Given the description of an element on the screen output the (x, y) to click on. 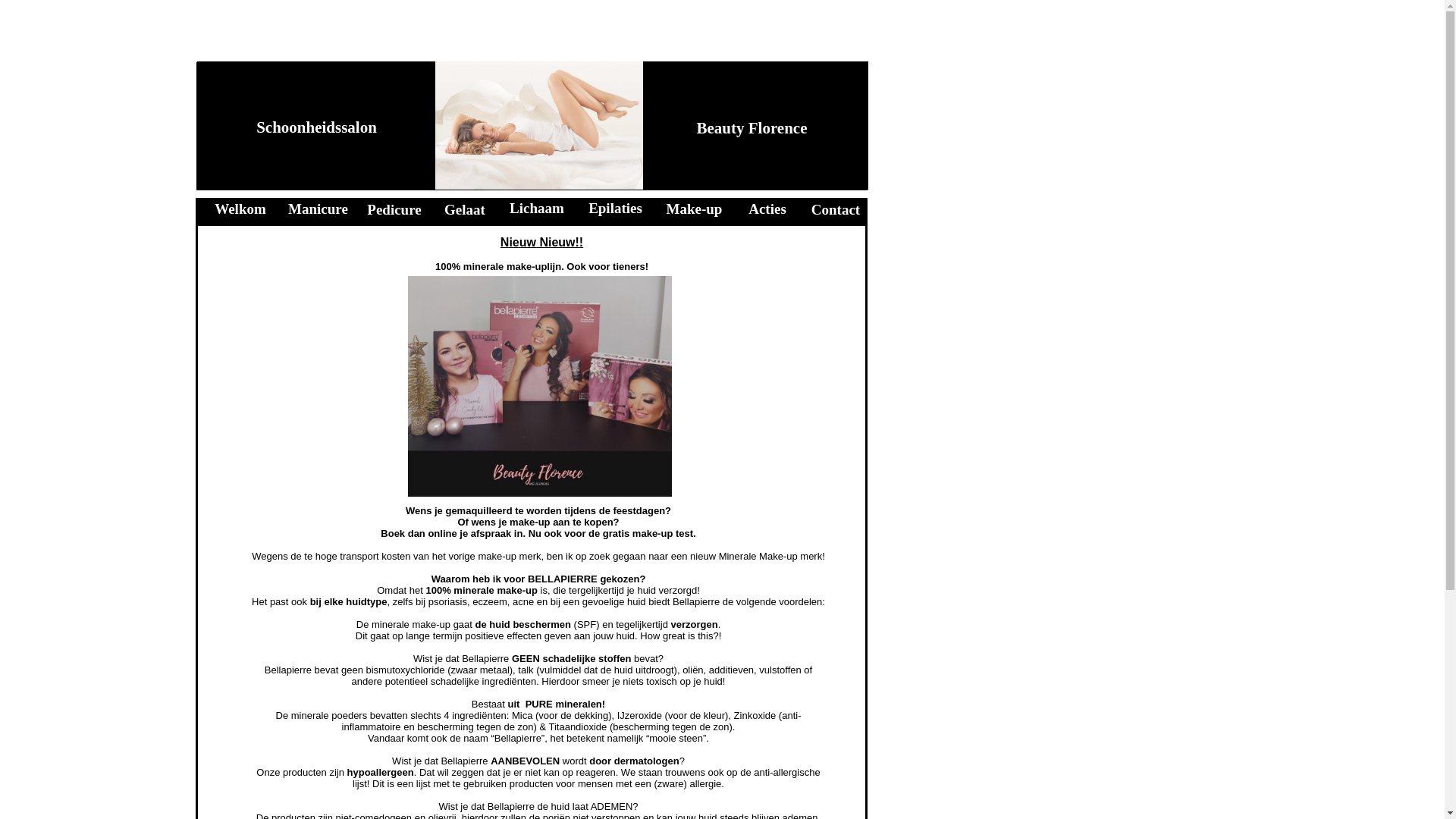
Manicure Element type: text (318, 208)
Make-up Element type: text (694, 208)
Acties Element type: text (767, 208)
Contact Element type: text (835, 209)
Gelaat Element type: text (464, 209)
Pedicure Element type: text (393, 209)
Epilaties Element type: text (615, 208)
Lichaam Element type: text (536, 208)
Welkom Element type: text (240, 208)
